Given the description of an element on the screen output the (x, y) to click on. 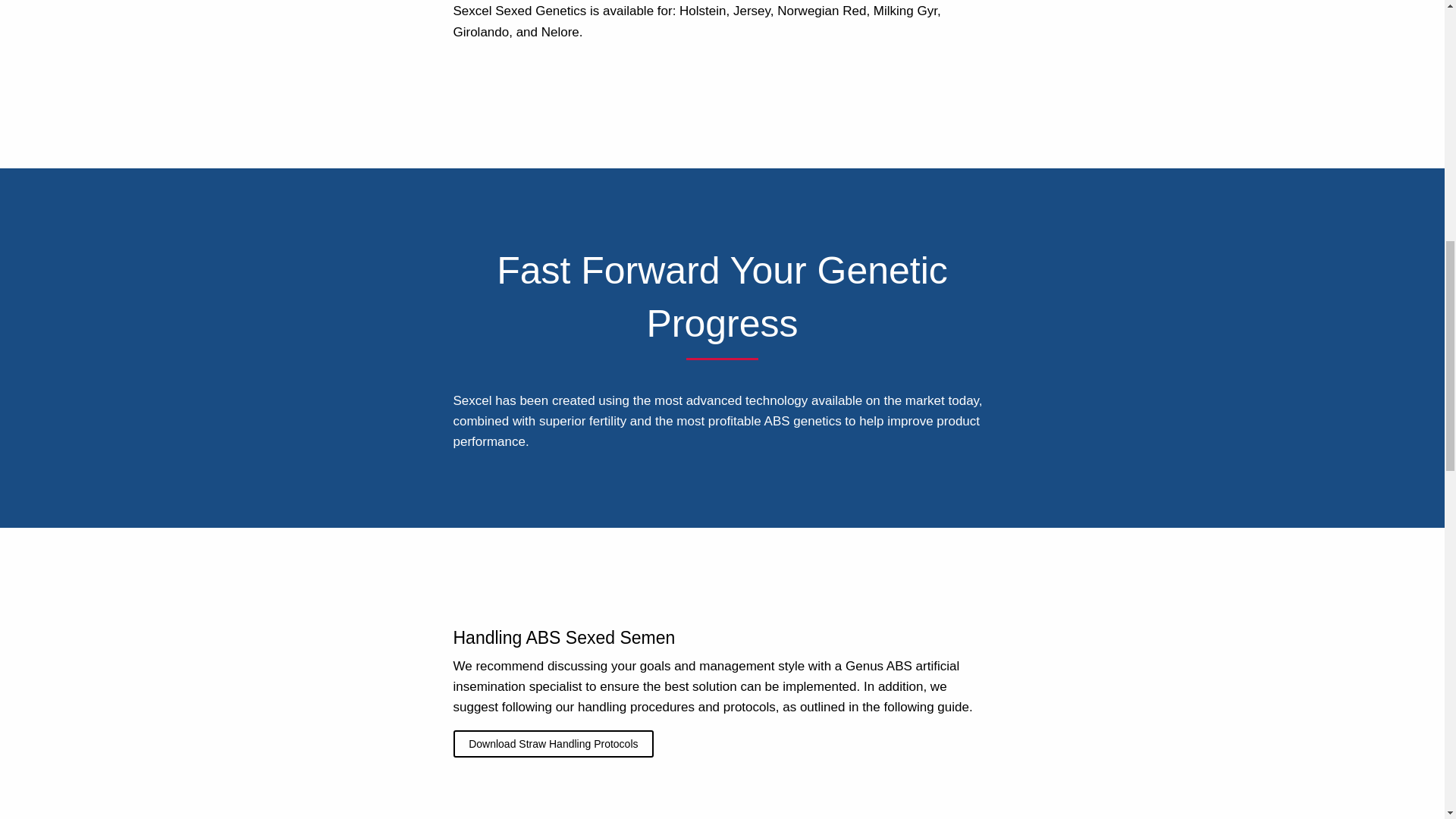
English Subtitled - Sexcel Long Commercial (721, 813)
